Given the description of an element on the screen output the (x, y) to click on. 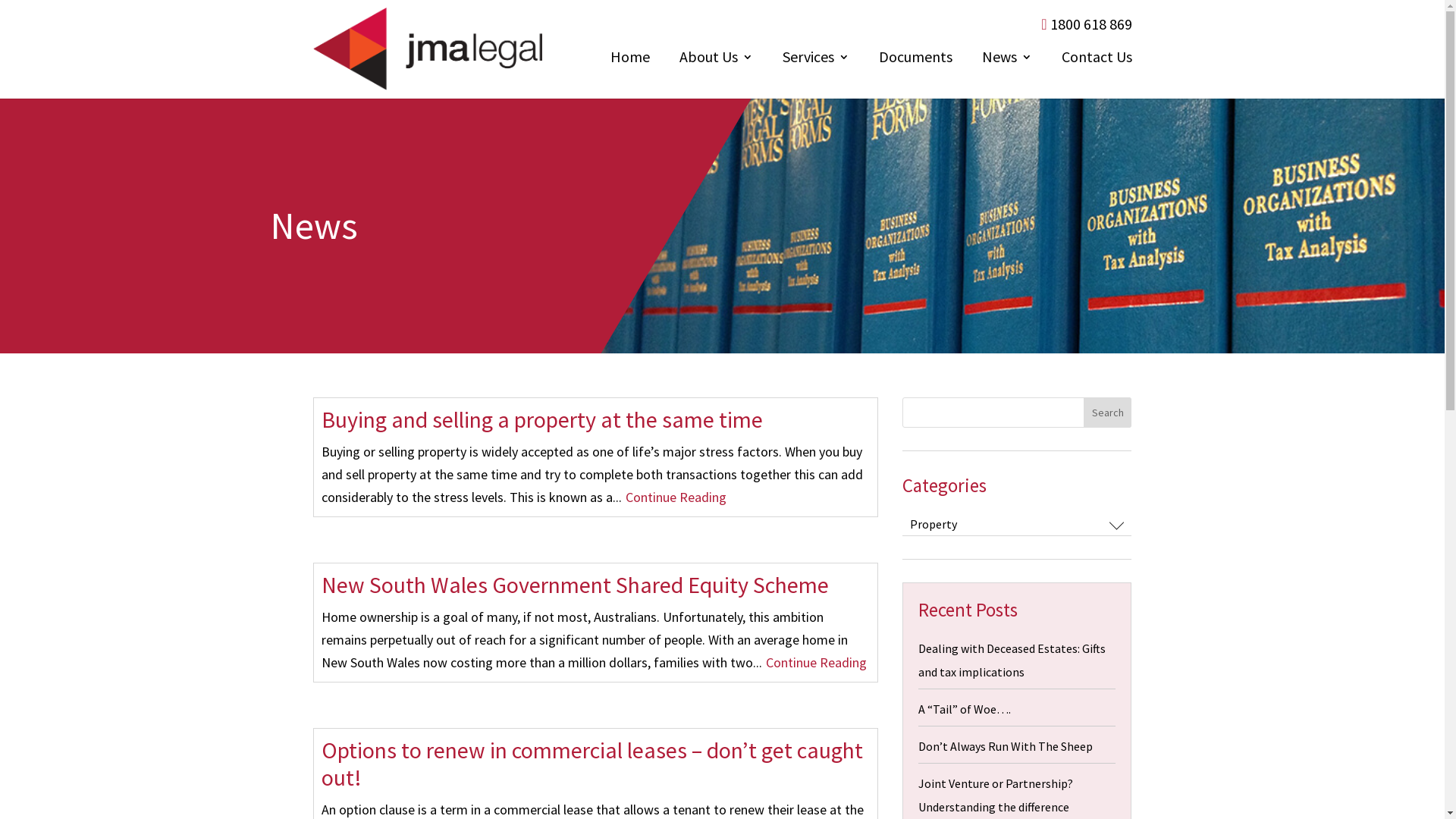
Documents Element type: text (914, 61)
About Us Element type: text (716, 61)
Services Element type: text (815, 61)
News Element type: text (1006, 61)
Contact Us Element type: text (1096, 61)
Home Element type: text (629, 61)
Continue Reading Element type: text (815, 662)
Dealing with Deceased Estates: Gifts and tax implications Element type: text (1011, 659)
1800 618 869 Element type: text (1086, 23)
Joint Venture or Partnership? Understanding the difference Element type: text (995, 794)
Search Element type: text (1107, 412)
Continue Reading Element type: text (674, 496)
New South Wales Government Shared Equity Scheme Element type: text (574, 584)
Buying and selling a property at the same time Element type: text (541, 418)
